Given the description of an element on the screen output the (x, y) to click on. 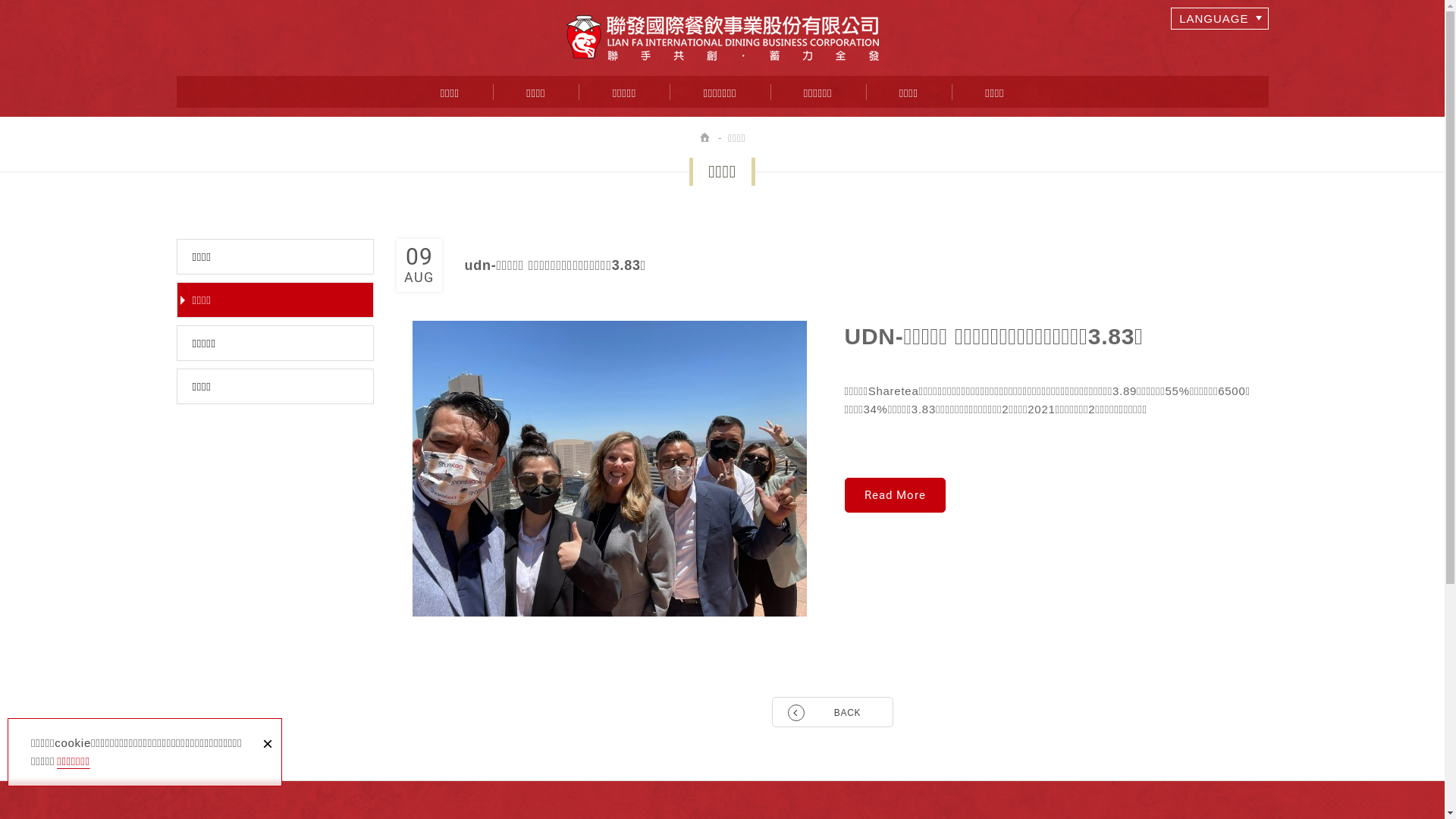
LANGUAGE Element type: text (1218, 18)
Home Element type: text (705, 137)
Read More Element type: text (894, 494)
BACK Element type: text (832, 711)
